Given the description of an element on the screen output the (x, y) to click on. 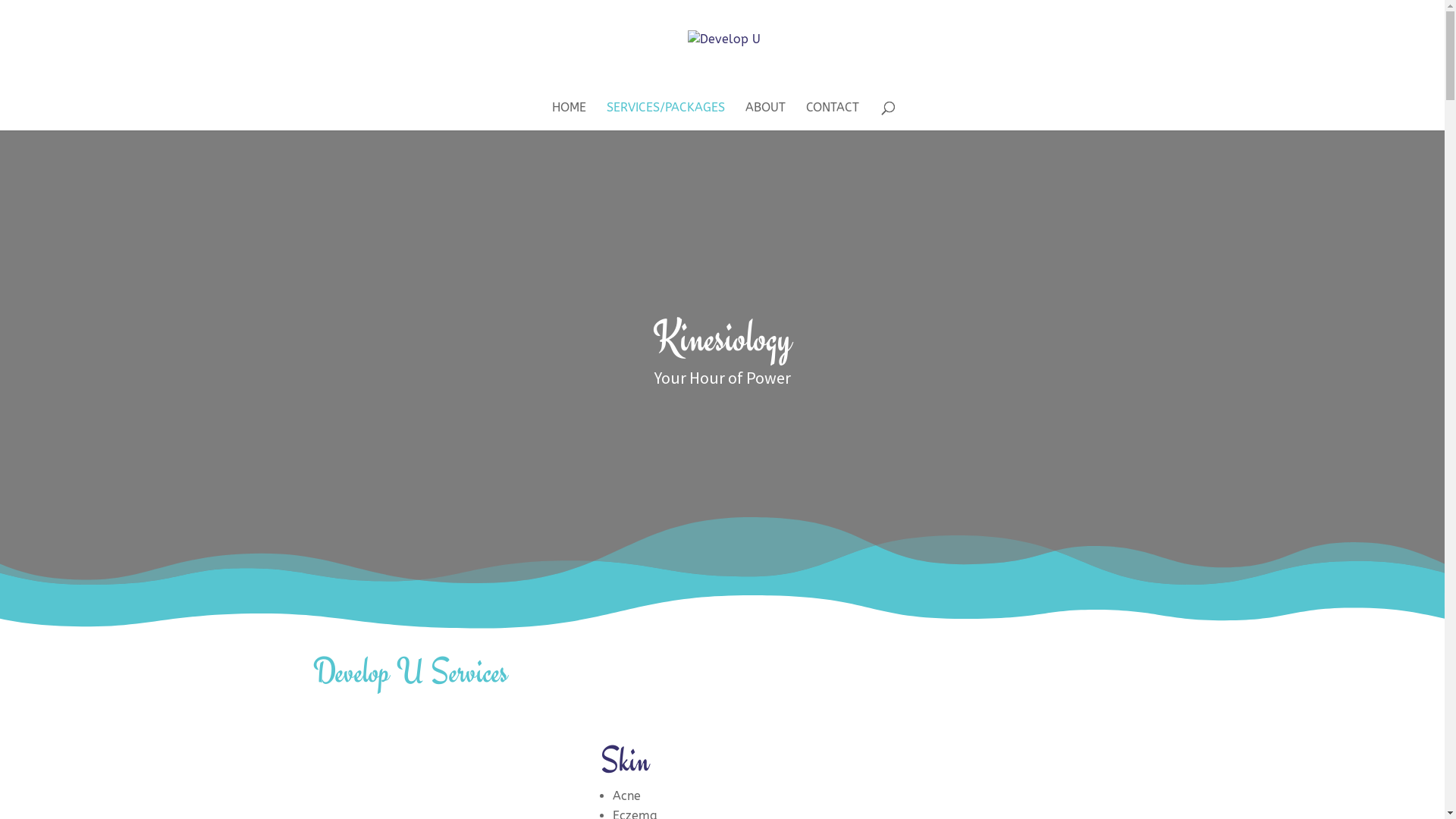
ABOUT Element type: text (764, 116)
CONTACT Element type: text (831, 116)
SERVICES/PACKAGES Element type: text (665, 116)
HOME Element type: text (569, 116)
